Given the description of an element on the screen output the (x, y) to click on. 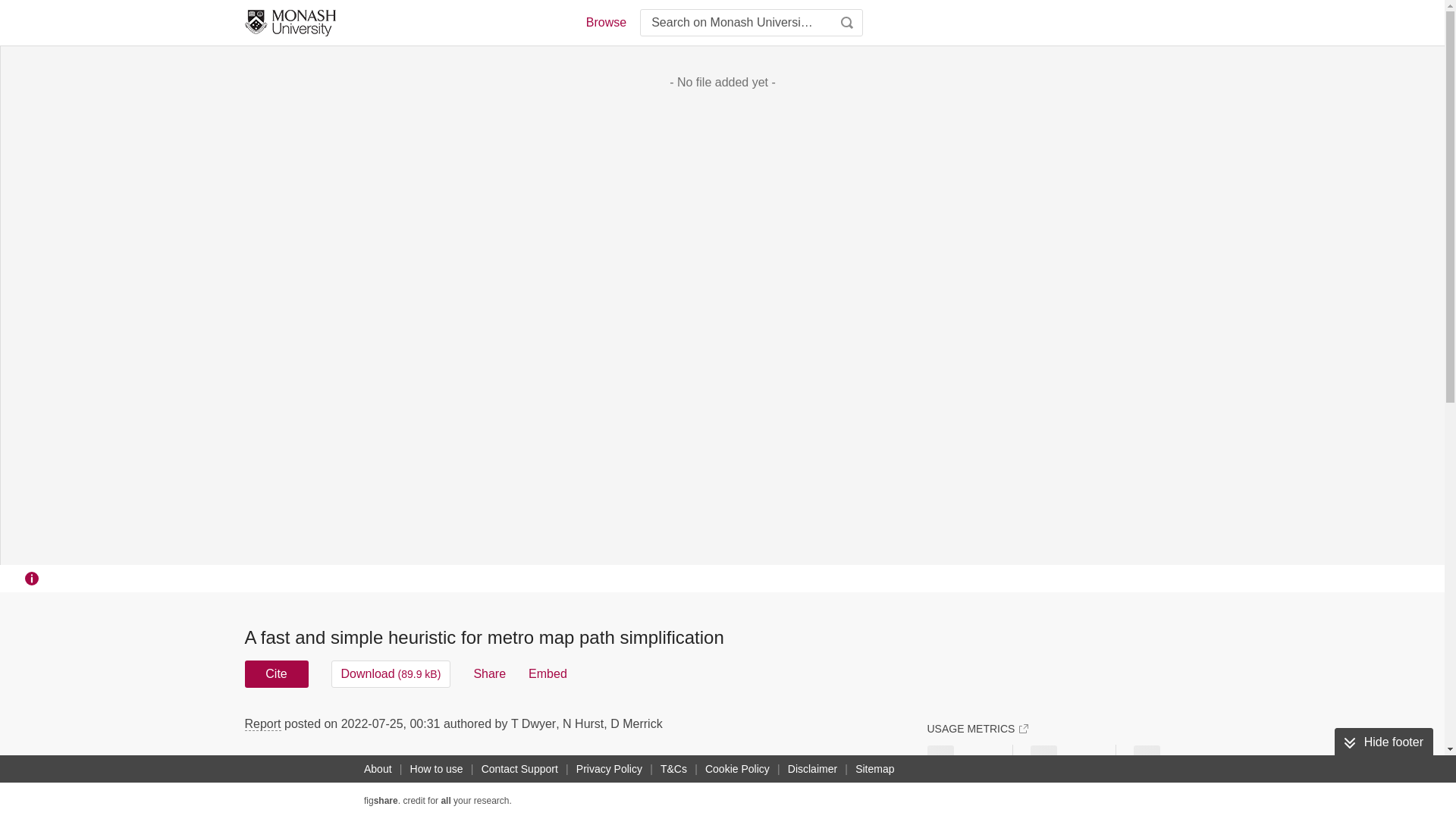
How to use (436, 769)
Sitemap (874, 769)
Share (489, 673)
USAGE METRICS (976, 728)
Contact Support (519, 769)
Disclaimer (812, 769)
Privacy Policy (609, 769)
Embed (547, 673)
Hide footer (1383, 742)
Cookie Policy (737, 769)
